Given the description of an element on the screen output the (x, y) to click on. 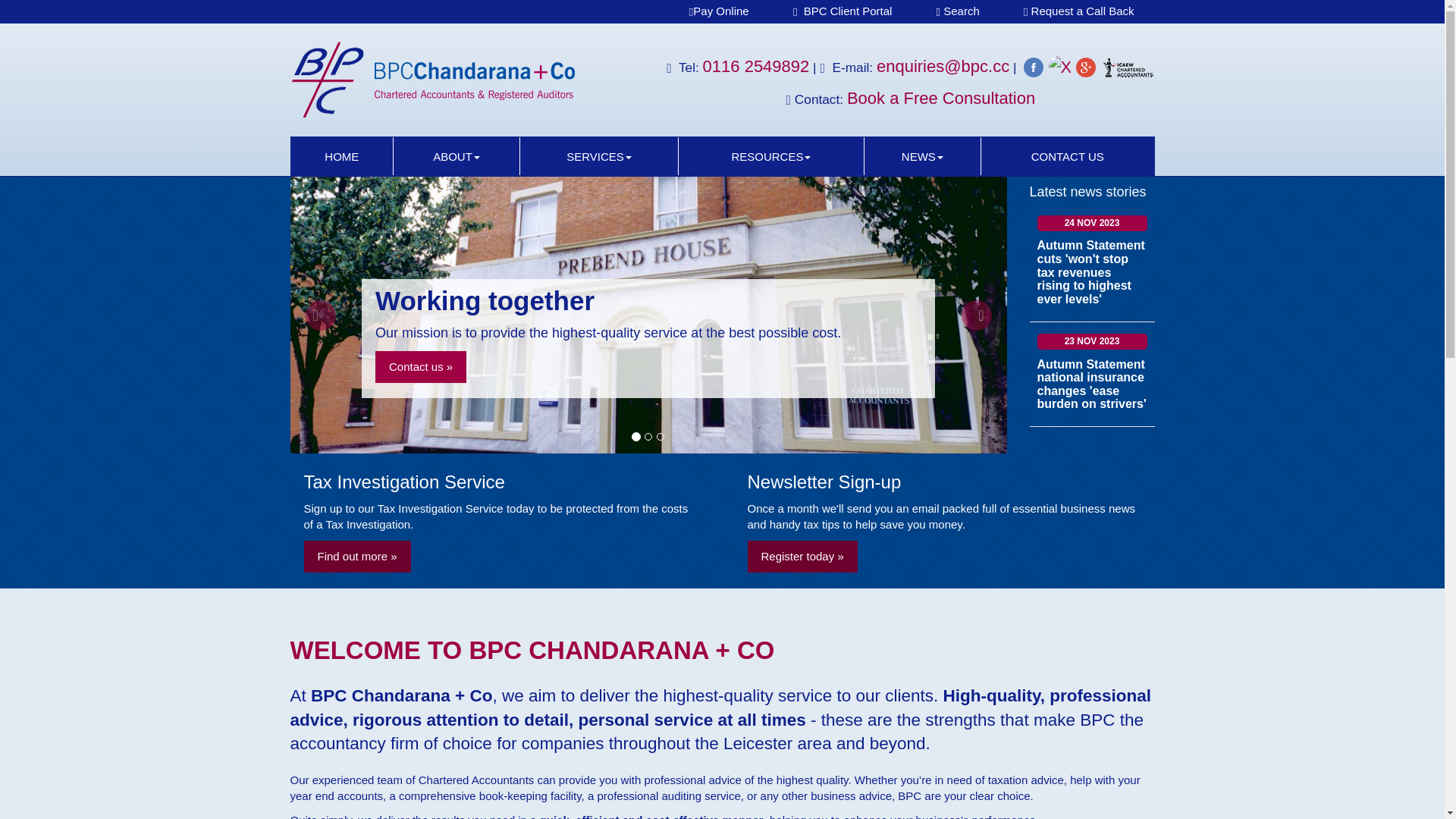
BPC Chandarana + Co Element type: hover (463, 79)
0116 2549892 Element type: text (755, 65)
Request a Call Back Element type: text (1078, 11)
Pay Online Element type: text (719, 11)
Facebook Element type: hover (1035, 65)
NEWS Element type: text (922, 156)
Twitter Element type: hover (1062, 65)
enquiries@bpc.cc Element type: text (942, 65)
Search Element type: text (957, 11)
Google+ Element type: hover (1088, 65)
CONTACT US Element type: text (1067, 156)
  BPC Client Portal Element type: text (842, 11)
2023 Autumn Statement - what to expect Element type: hover (1091, 474)
ABOUT Element type: text (456, 156)
SERVICES Element type: text (598, 156)
HOME Element type: text (342, 156)
Book a Free Consultation Element type: text (941, 97)
ICAEW Element type: hover (1127, 65)
RESOURCES Element type: text (770, 156)
